Given the description of an element on the screen output the (x, y) to click on. 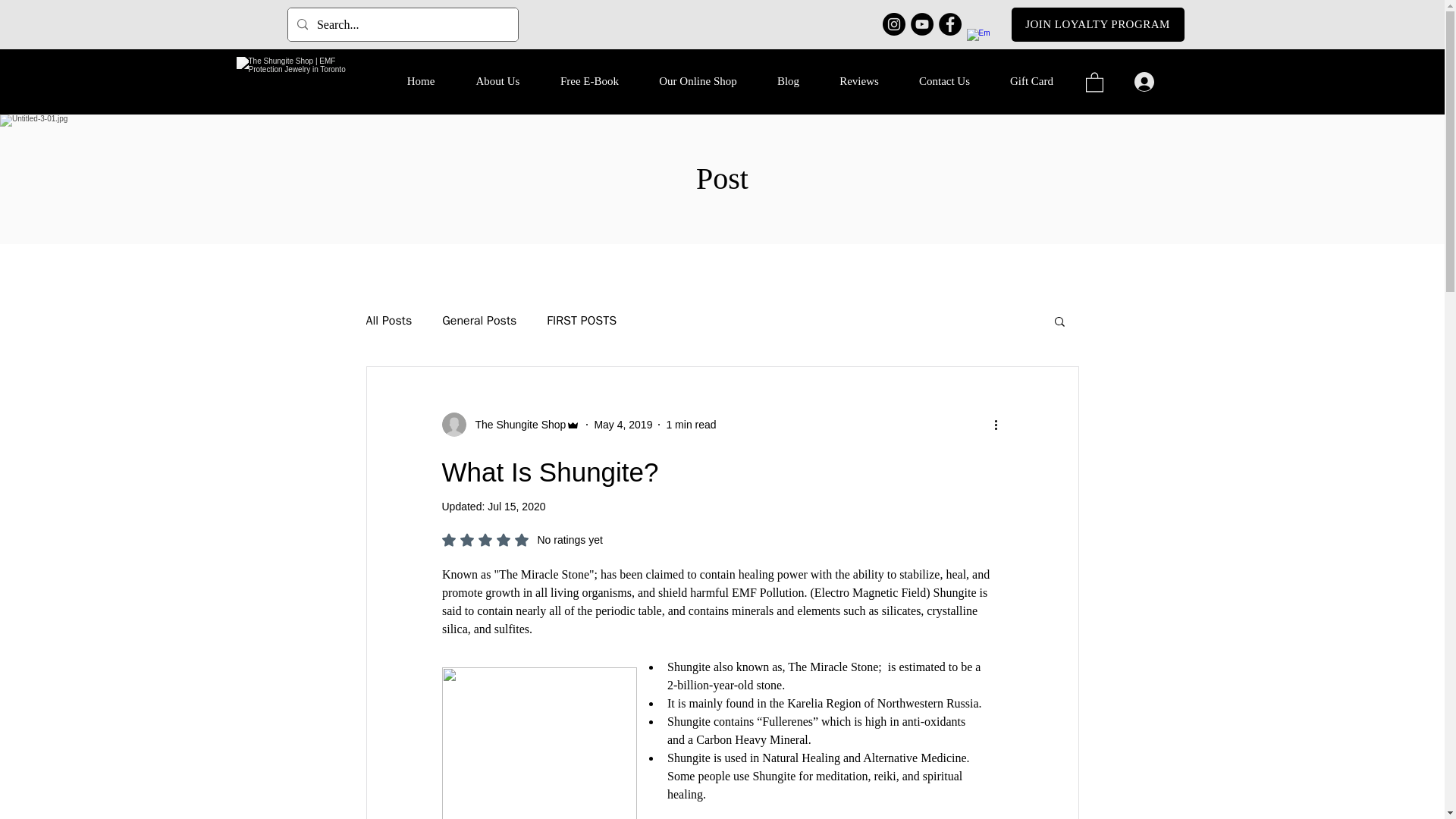
Free E-Book (589, 81)
Gift Card (1032, 81)
Blog (787, 81)
1 min read (521, 540)
All Posts (690, 424)
Reviews (388, 320)
FIRST POSTS (858, 81)
The Shungite Shop (581, 320)
May 4, 2019 (515, 424)
